Given the description of an element on the screen output the (x, y) to click on. 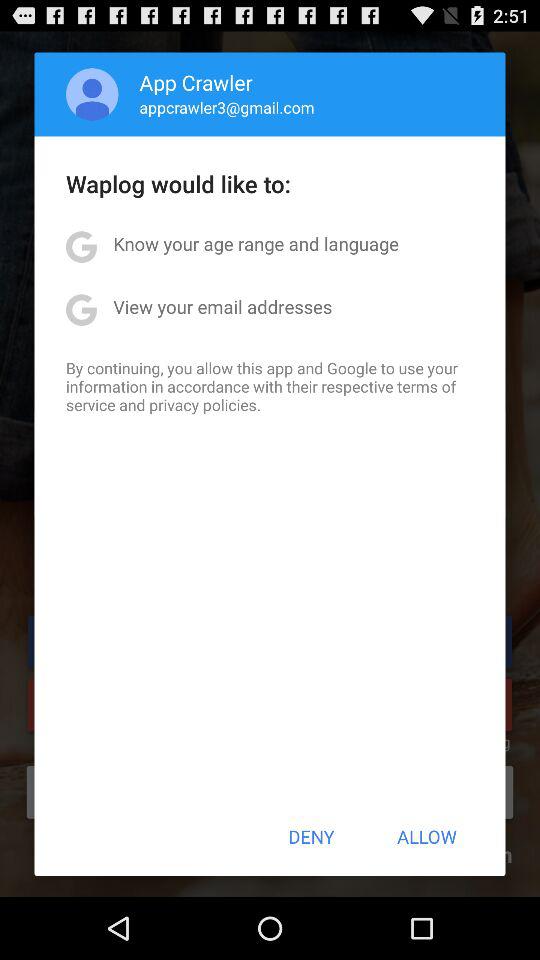
select the icon to the left of allow icon (311, 836)
